Given the description of an element on the screen output the (x, y) to click on. 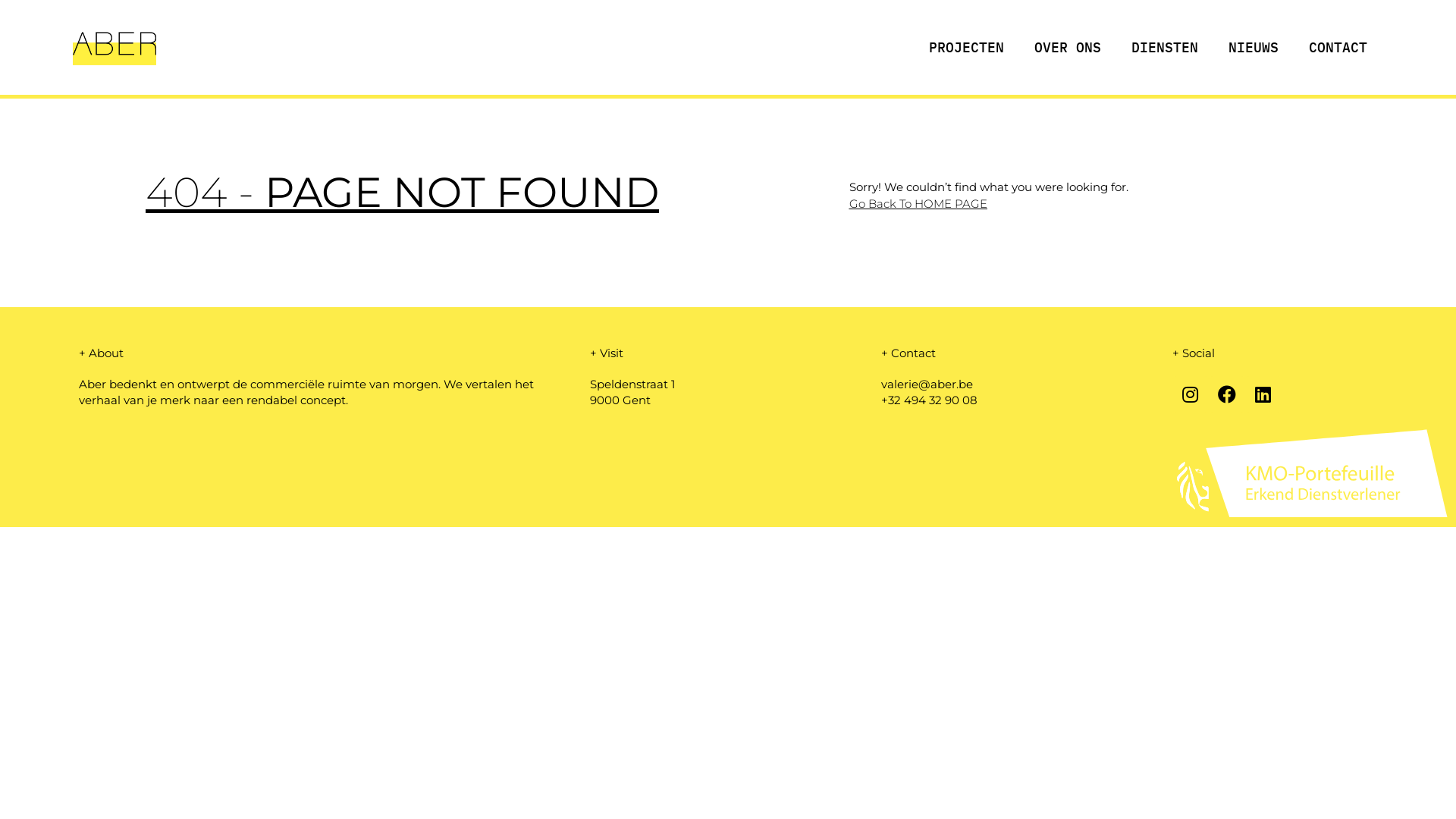
NIEUWS Element type: text (1253, 47)
DIENSTEN Element type: text (1164, 47)
CONTACT Element type: text (1337, 47)
OVER ONS Element type: text (1067, 47)
Go Back To HOME PAGE Element type: text (918, 203)
PROJECTEN Element type: text (966, 47)
